Given the description of an element on the screen output the (x, y) to click on. 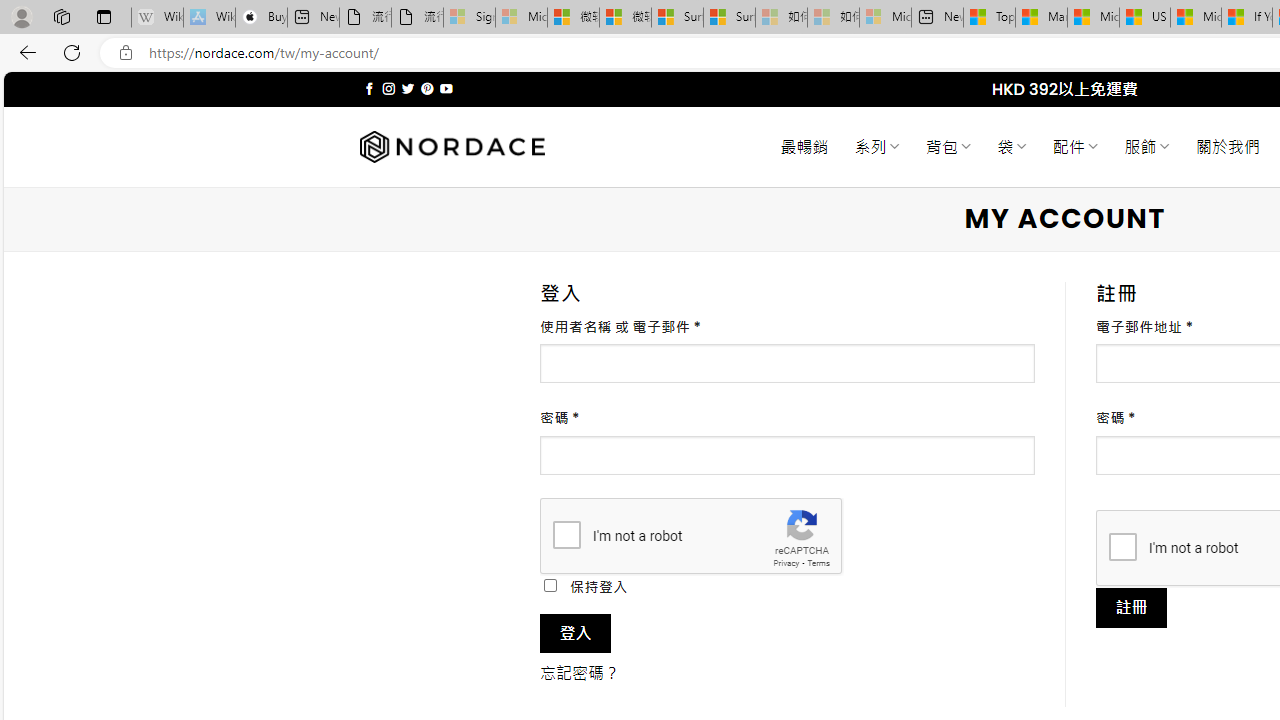
Follow on Facebook (369, 88)
